Given the description of an element on the screen output the (x, y) to click on. 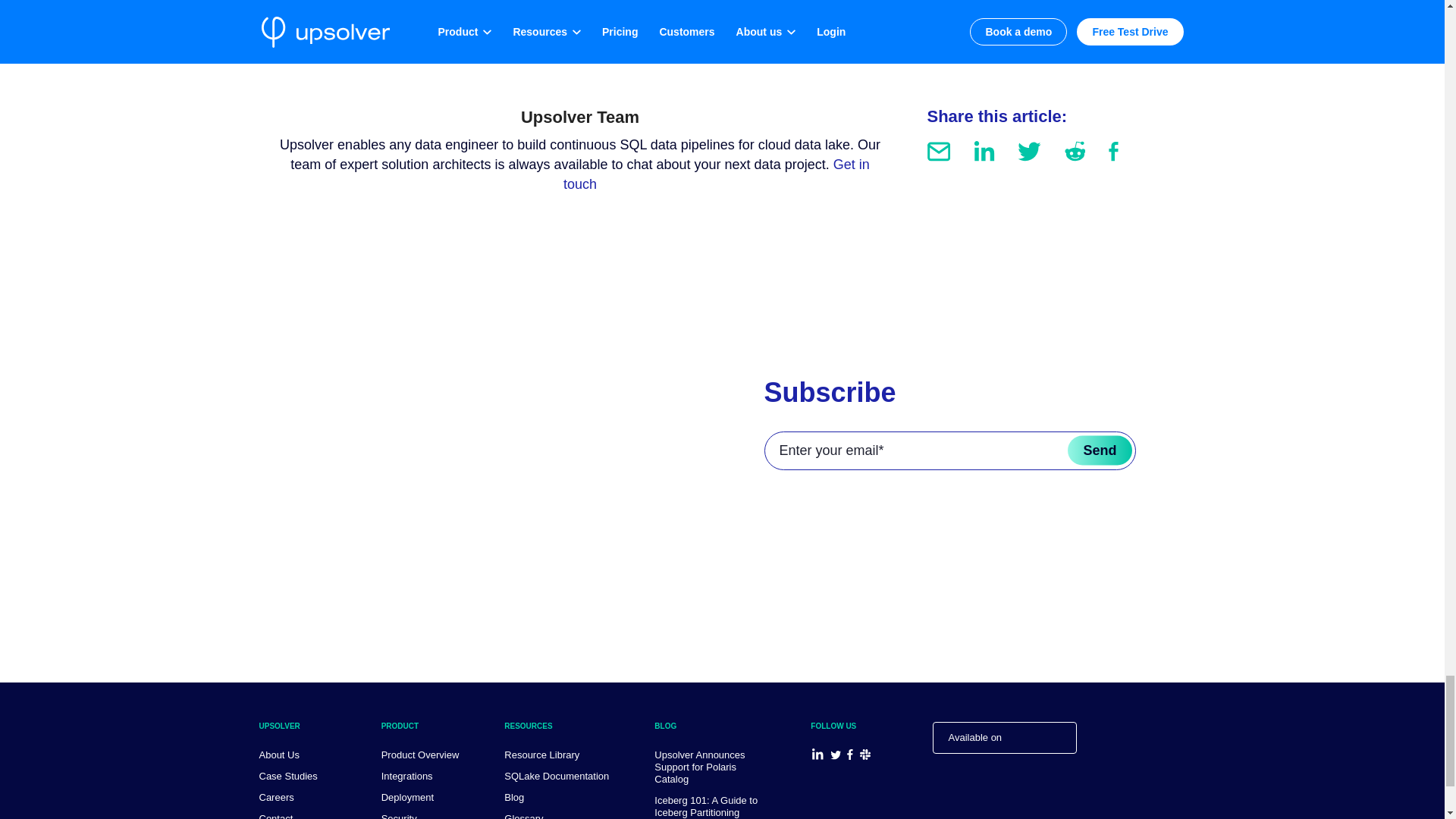
Iceberg 101: A Guide to Iceberg Partitioning (705, 806)
Send (1099, 450)
Upsolver Announces Support for Polaris Catalog (698, 766)
